Given the description of an element on the screen output the (x, y) to click on. 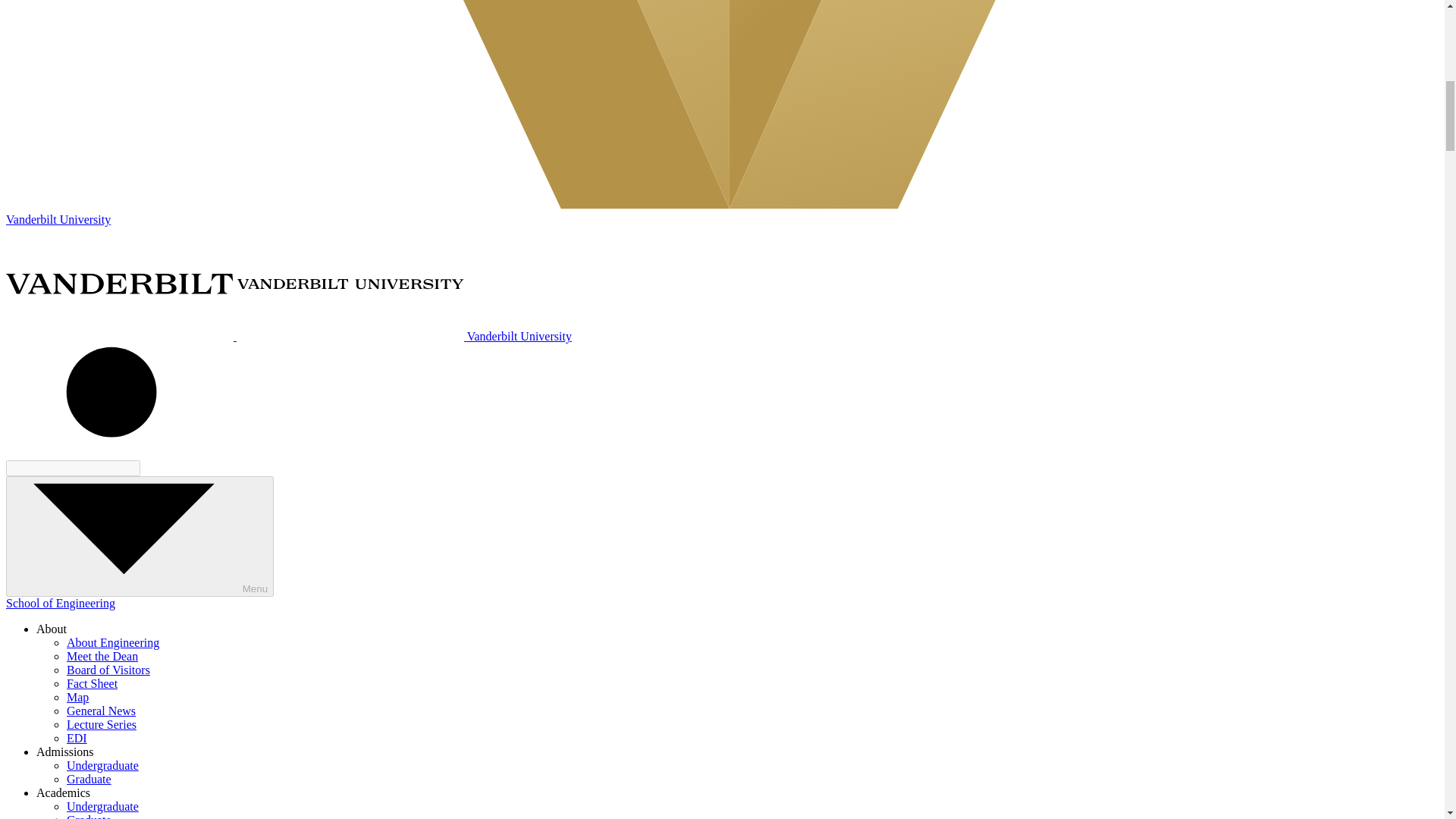
About (51, 628)
Lecture Series (101, 724)
About Engineering (112, 642)
Graduate (89, 816)
EDI (76, 738)
General News (100, 710)
Meet the Dean (102, 656)
Academics (63, 792)
Vanderbilt University (288, 336)
Map (77, 697)
School of Engineering (60, 603)
Menu (139, 536)
Fact Sheet (91, 683)
Admissions (65, 751)
Undergraduate (102, 806)
